Given the description of an element on the screen output the (x, y) to click on. 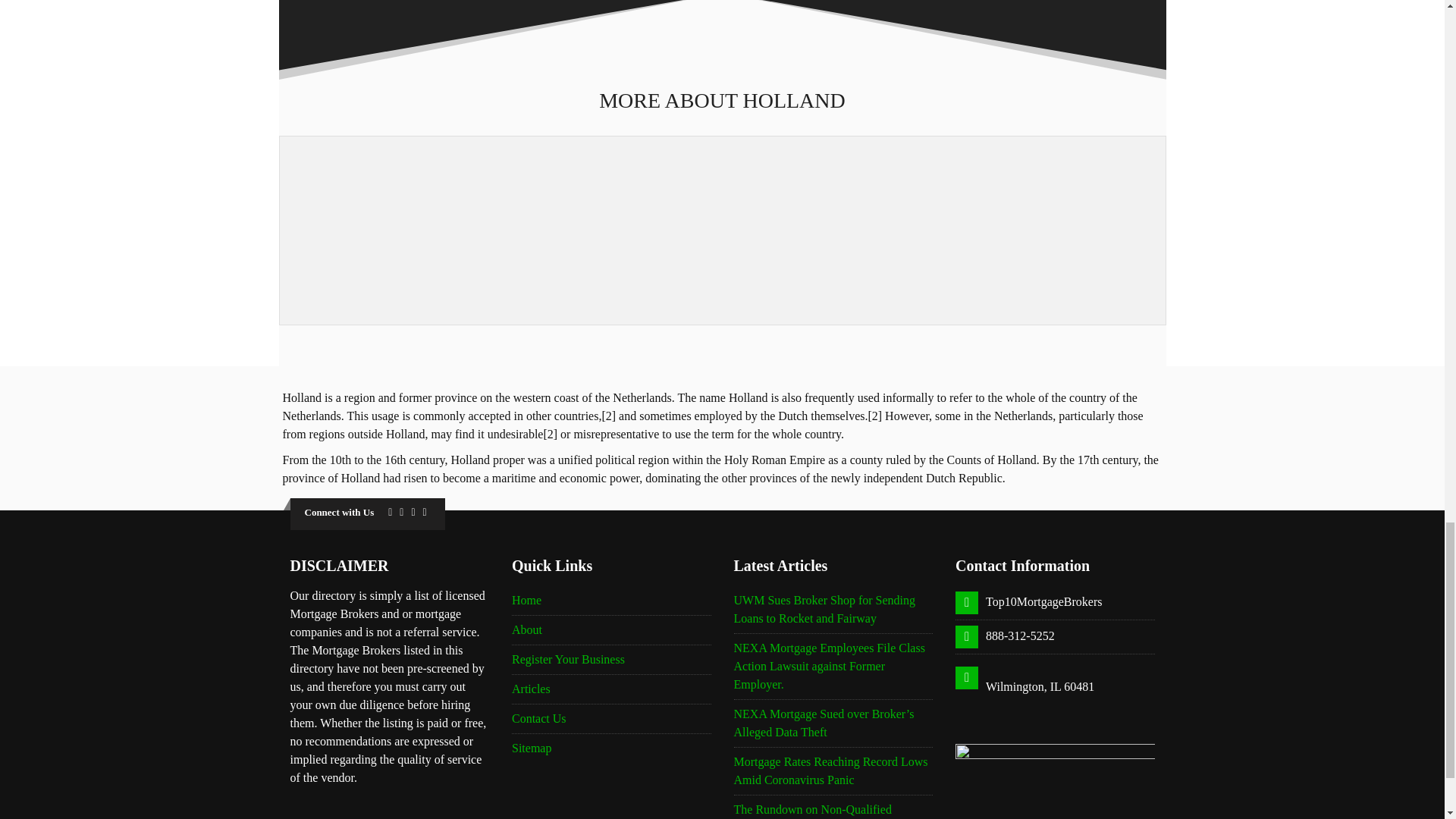
Register Your Business (568, 658)
About (526, 629)
Articles (531, 688)
Home (526, 599)
